Given the description of an element on the screen output the (x, y) to click on. 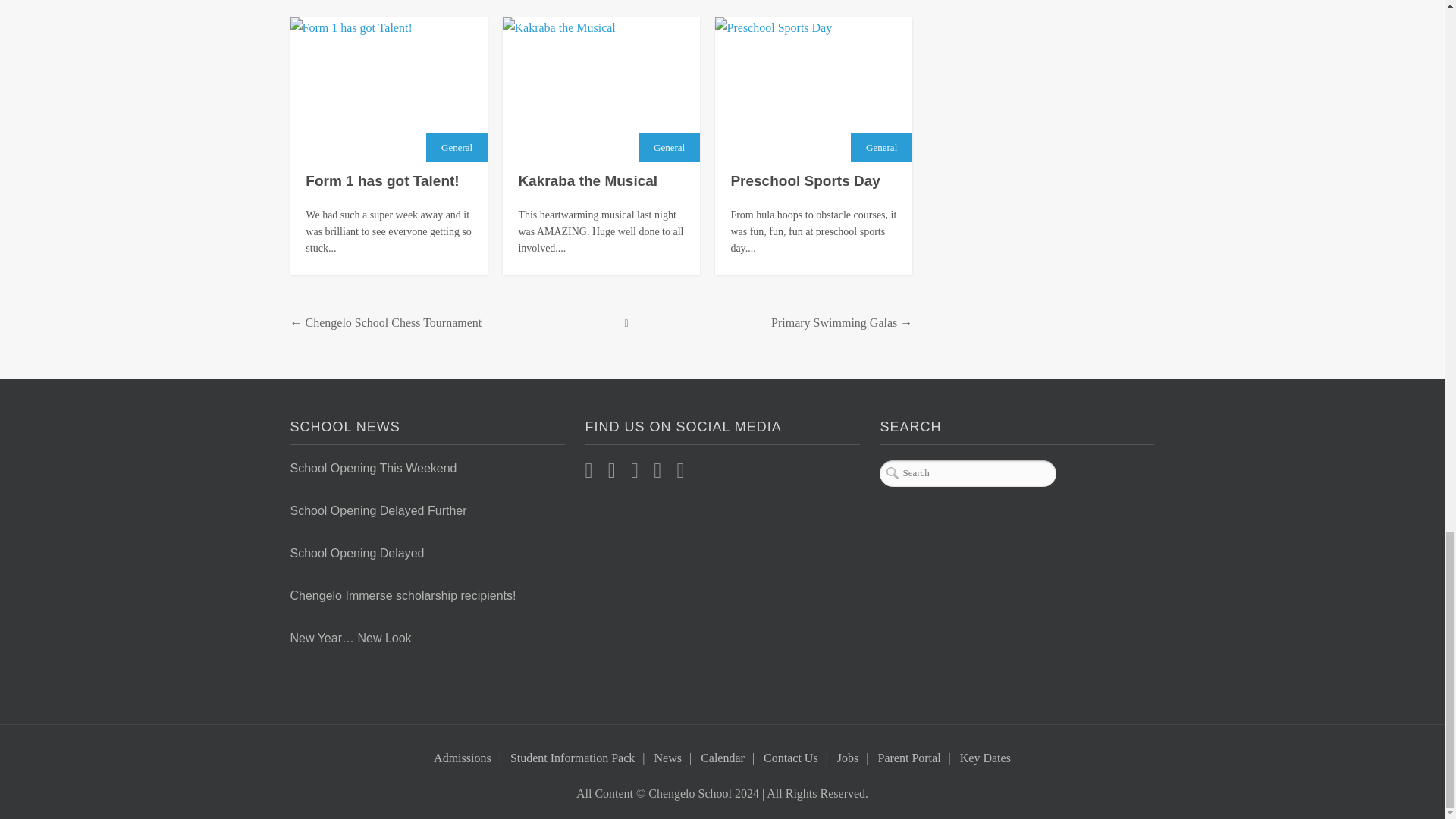
Preschool Sports Day (813, 180)
Kakraba the Musical (601, 89)
Form 1 has got Talent! (388, 89)
Form 1 has got Talent! (388, 180)
Preschool Sports Day (813, 89)
Kakraba the Musical (601, 180)
